Given the description of an element on the screen output the (x, y) to click on. 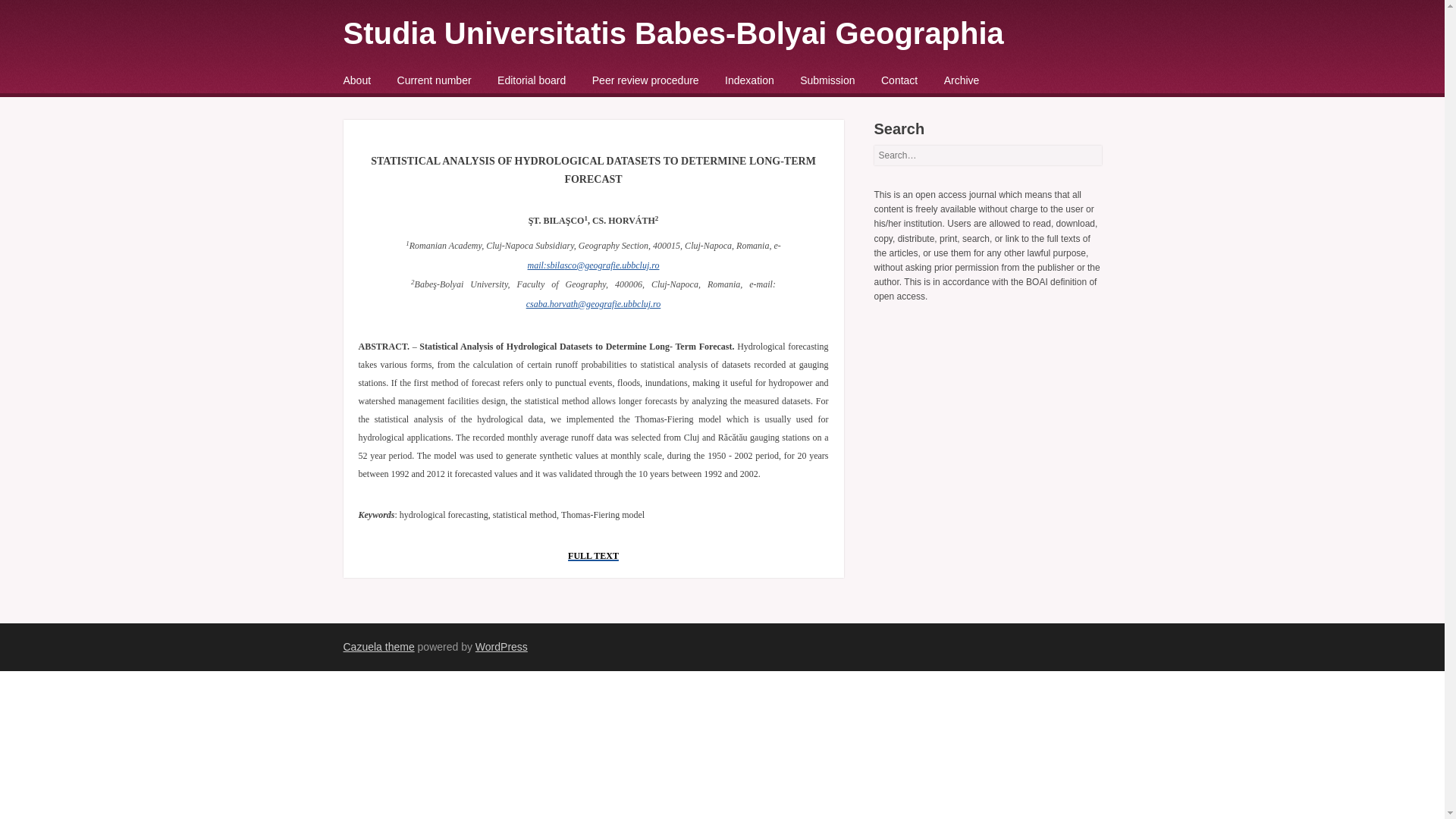
Indexation (749, 79)
Studia Universitatis Babes-Bolyai Geographia (672, 32)
Skip to content (382, 81)
Contact (898, 79)
Submission (826, 79)
mail:sbila (545, 265)
Semantic Personal Publishing Platform (501, 646)
Editorial board (531, 79)
Search (33, 17)
FULL TEXT (592, 553)
Archive (961, 79)
Peer review procedure (645, 79)
About (356, 79)
Current number (434, 79)
Studia Universitatis Babes-Bolyai Geographia (672, 32)
